Given the description of an element on the screen output the (x, y) to click on. 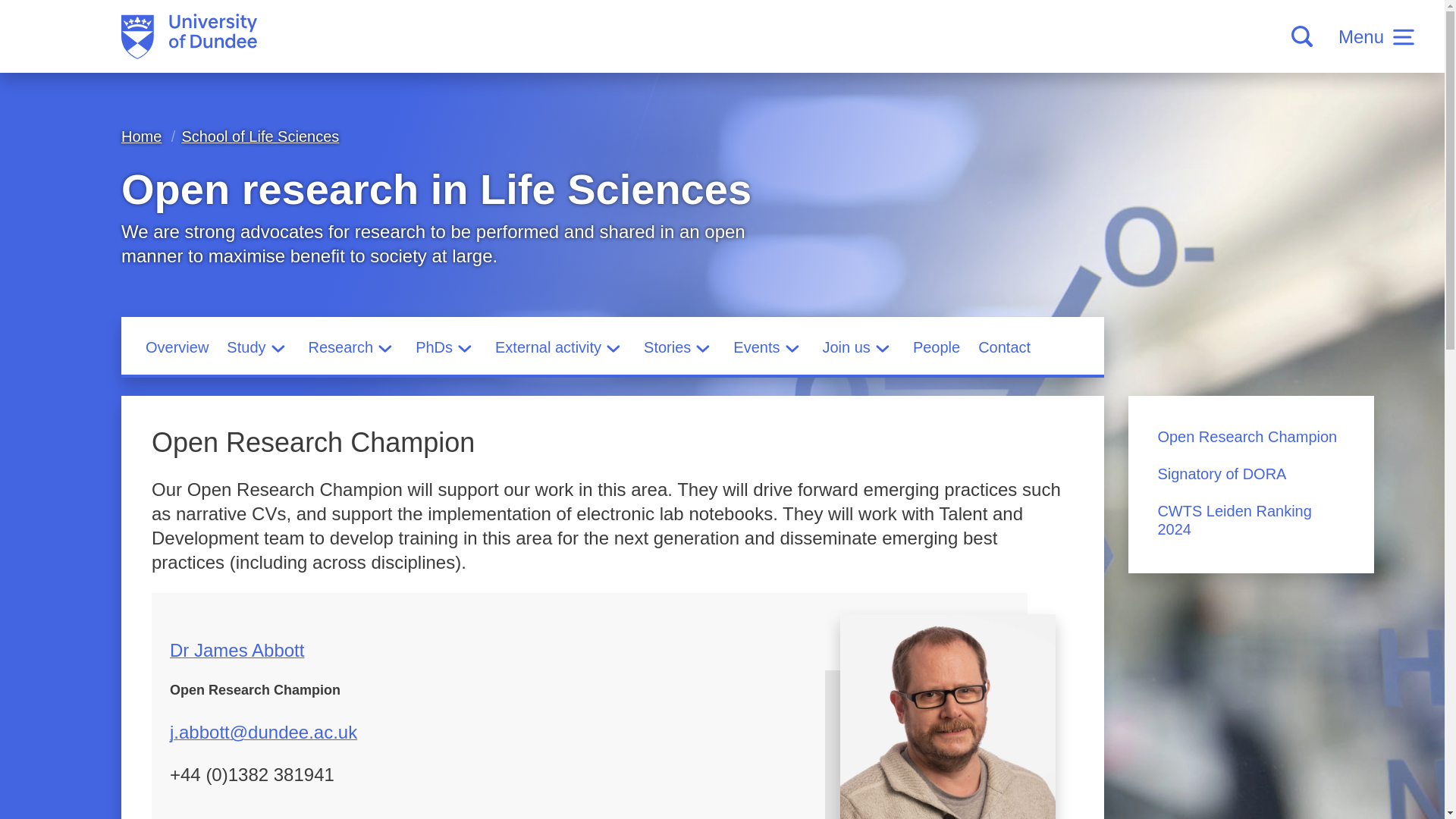
Dr James Abbott (947, 716)
Dr James Abbott (237, 649)
University of Dundee (188, 35)
Menu (1375, 36)
